Given the description of an element on the screen output the (x, y) to click on. 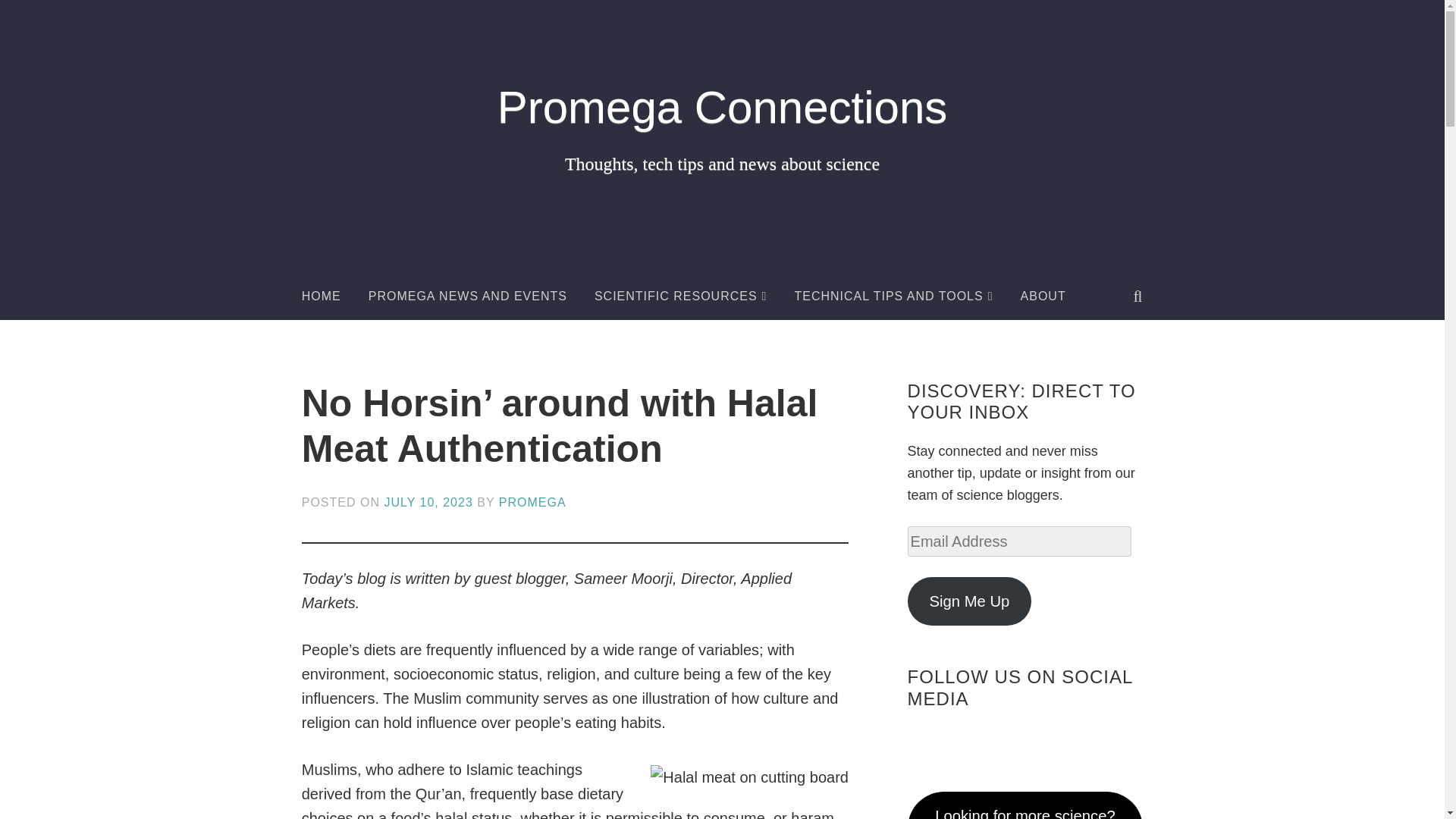
PROMEGA NEWS AND EVENTS (467, 296)
Promega Connections (722, 106)
TECHNICAL TIPS AND TOOLS (892, 296)
PROMEGA (532, 502)
JULY 10, 2023 (427, 502)
SCIENTIFIC RESOURCES (680, 296)
ABOUT (1042, 296)
